Given the description of an element on the screen output the (x, y) to click on. 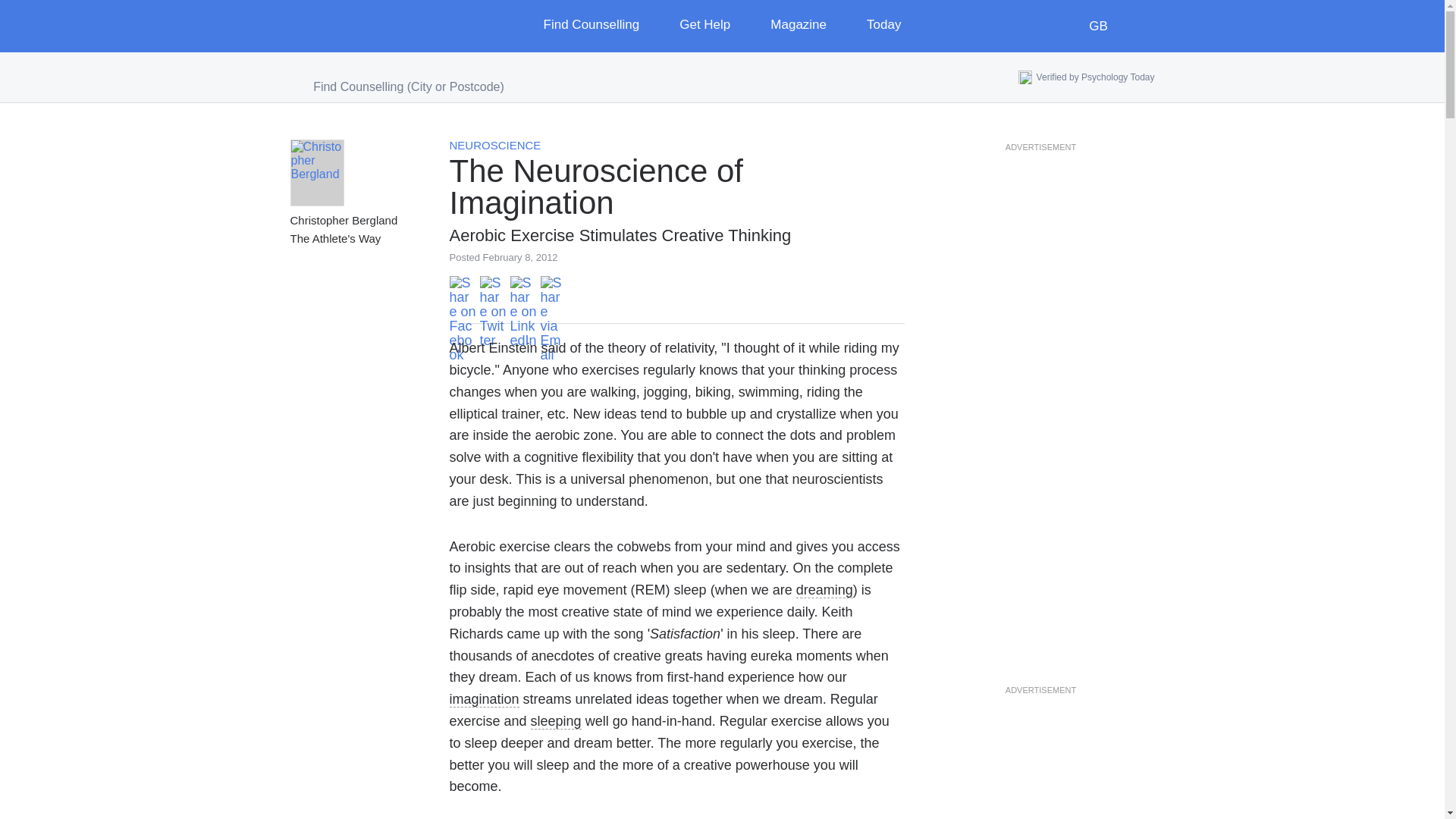
Psychology Today (352, 25)
Find Counselling (602, 25)
Get Help (715, 25)
